Given the description of an element on the screen output the (x, y) to click on. 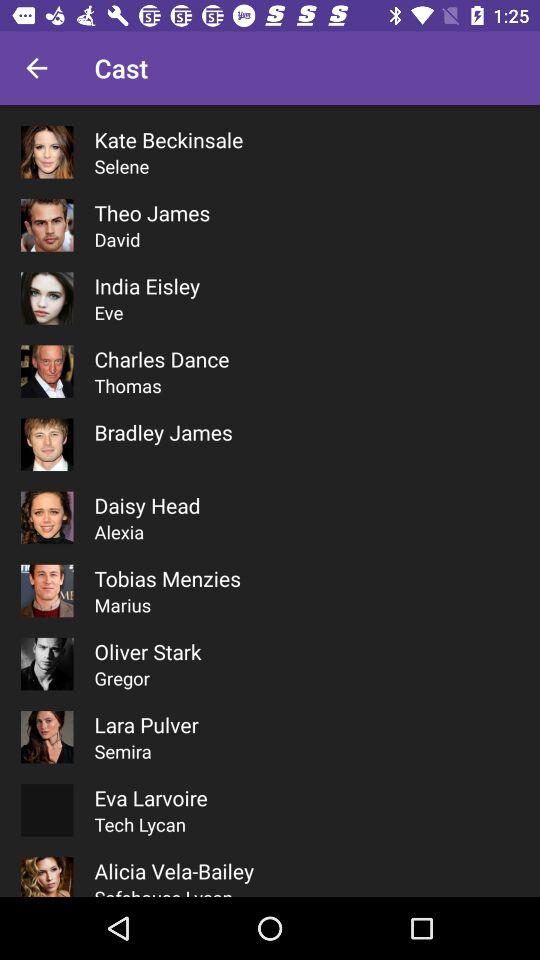
press the item below the bradley james (147, 505)
